Given the description of an element on the screen output the (x, y) to click on. 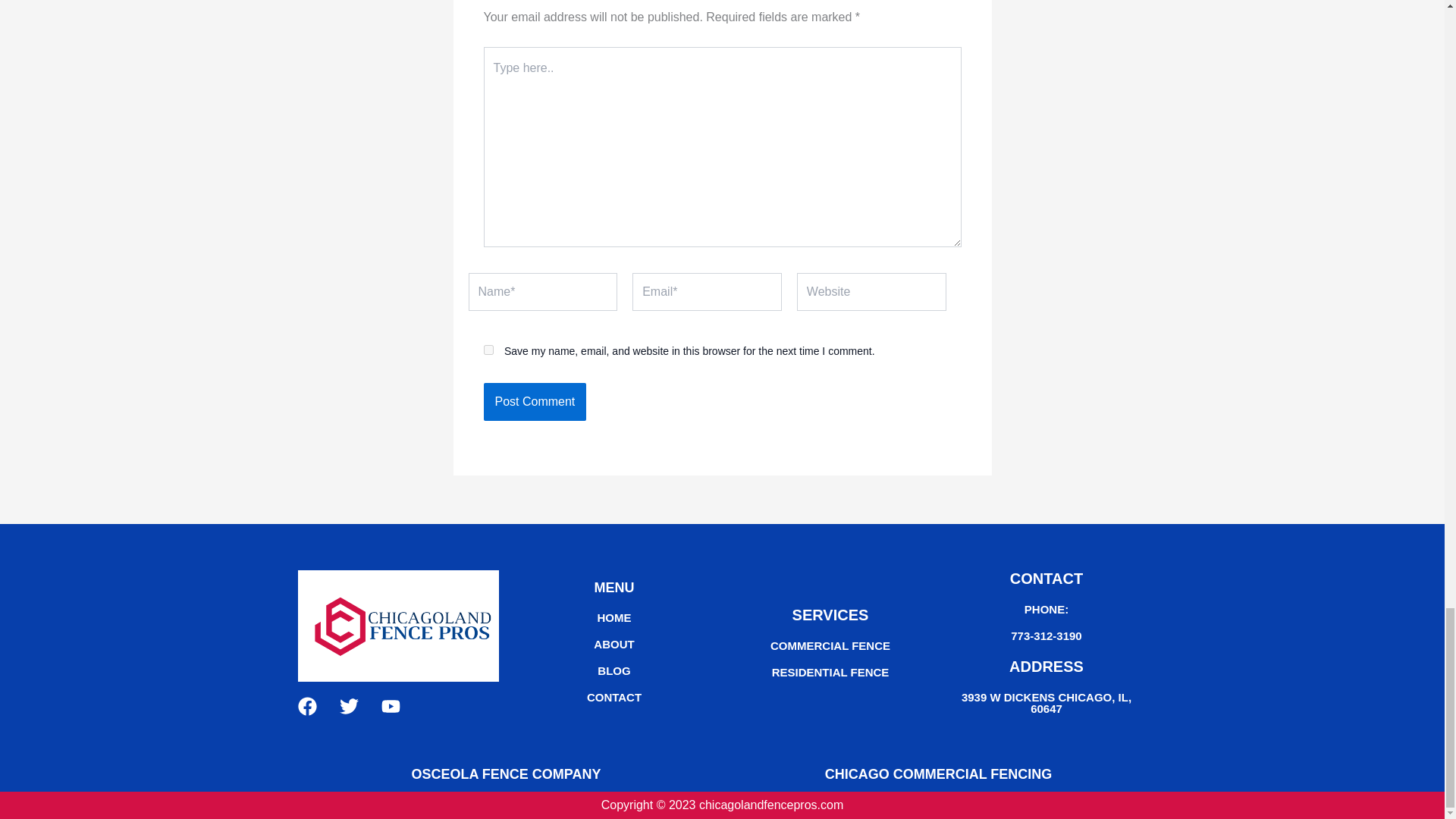
Post Comment (534, 401)
yes (488, 349)
